Given the description of an element on the screen output the (x, y) to click on. 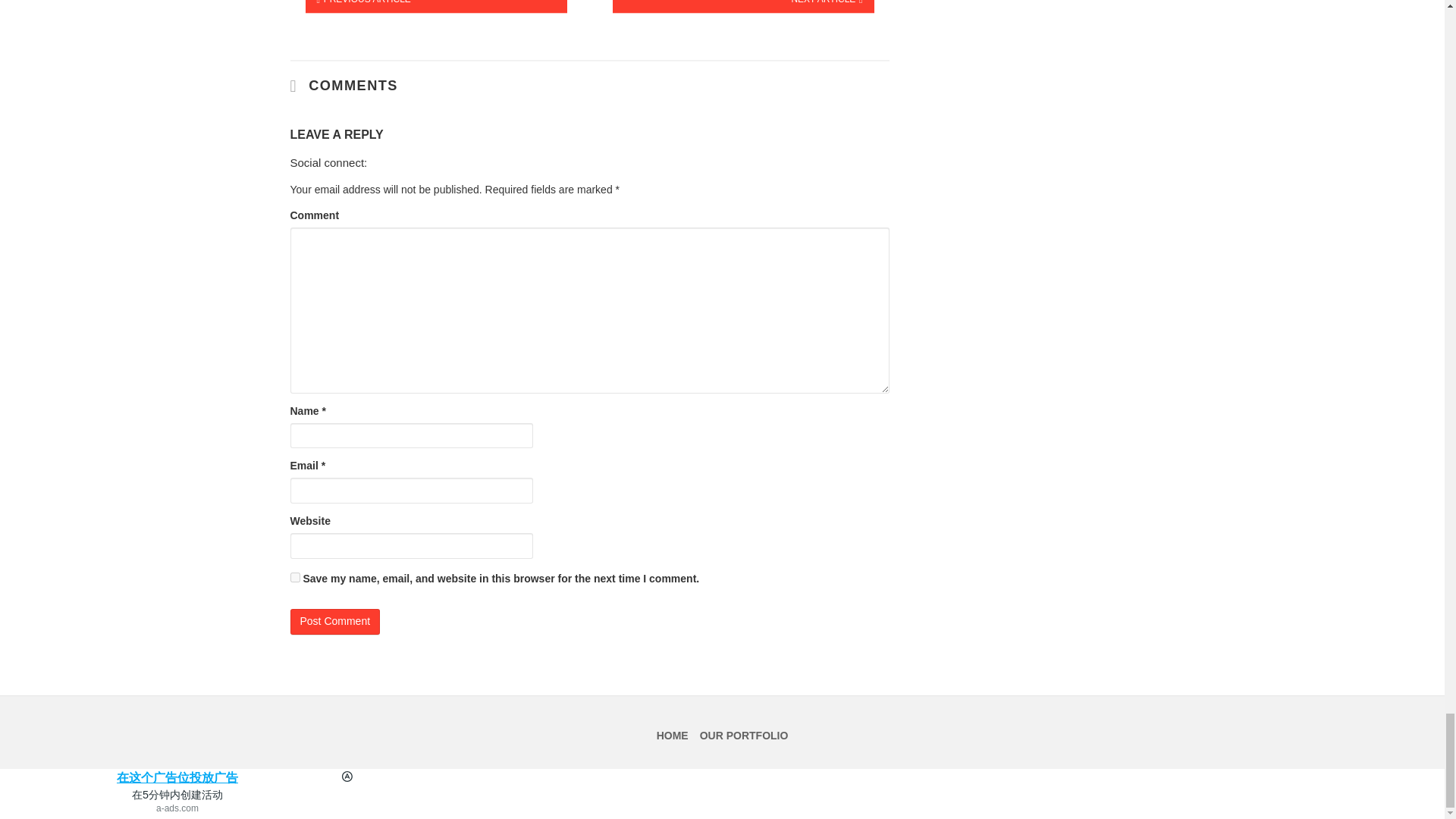
Post Comment (334, 621)
yes (294, 577)
